Given the description of an element on the screen output the (x, y) to click on. 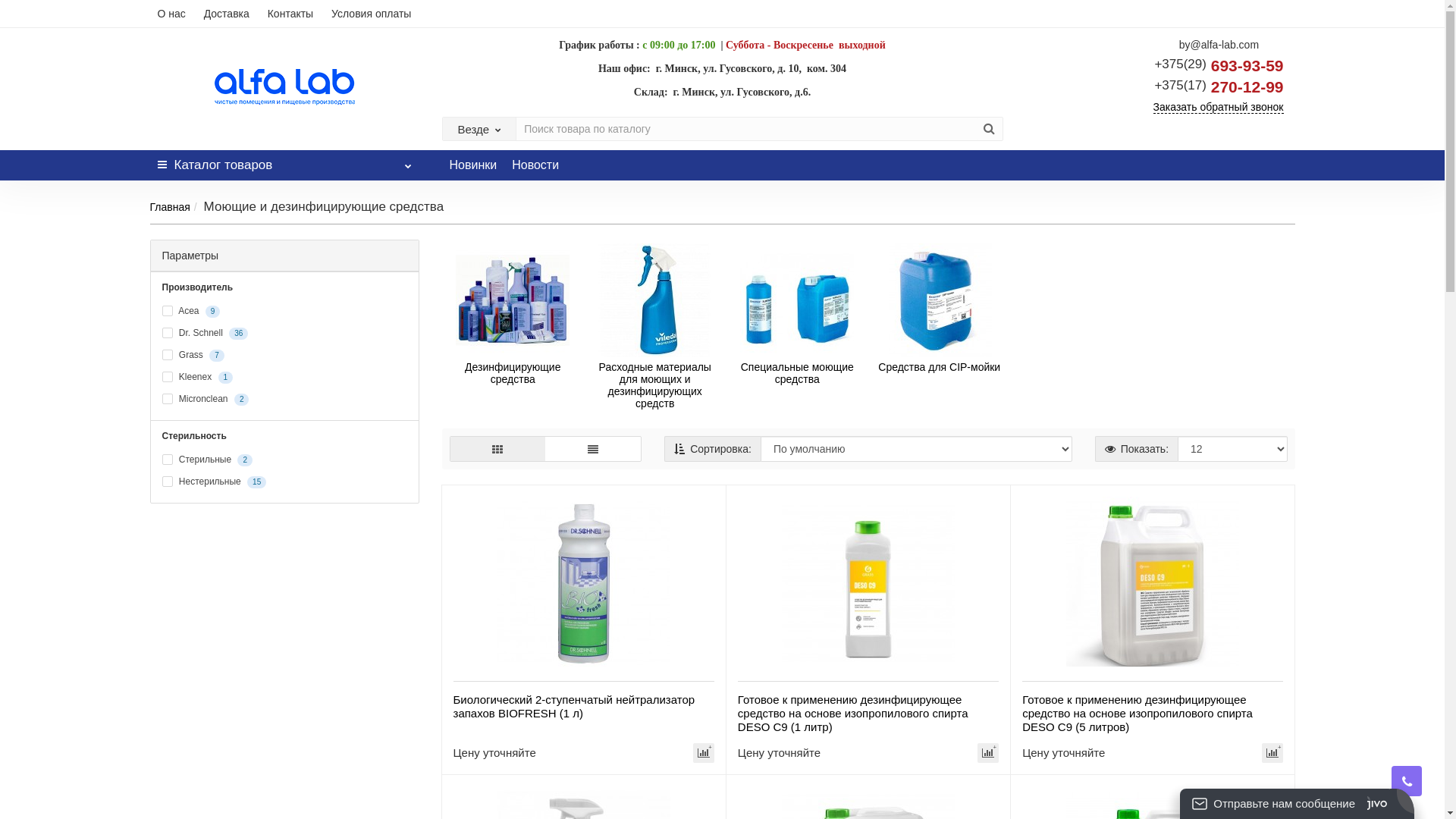
cleanroom.by Element type: hover (283, 86)
+375(17) 270-12-99 Element type: text (1218, 86)
+375(29) 693-93-59 Element type: text (1218, 65)
